Given the description of an element on the screen output the (x, y) to click on. 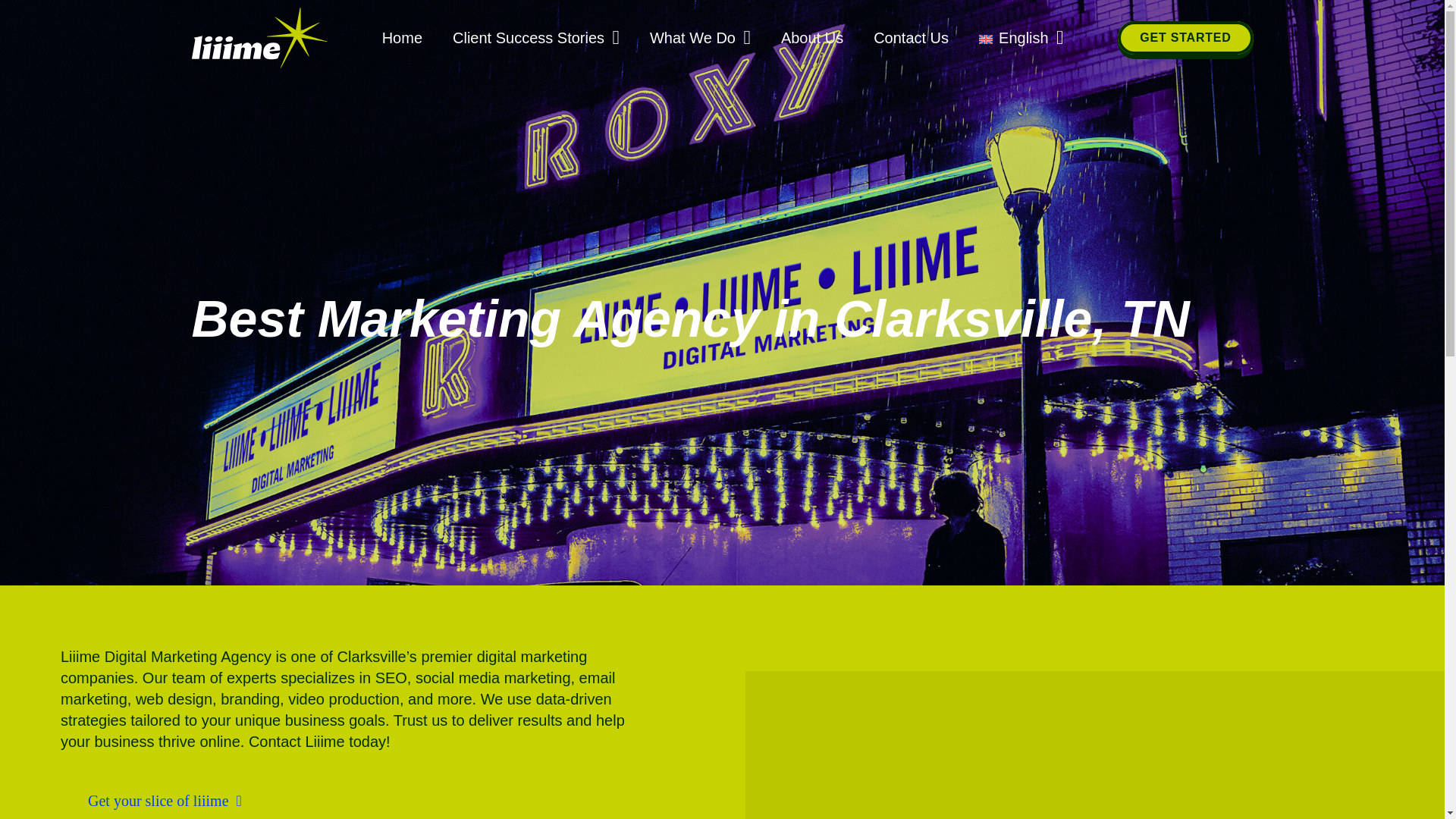
English (1020, 38)
Get your slice of liiime (165, 799)
Home (402, 38)
Contact Us (911, 38)
About Us (812, 38)
English (1020, 38)
GET STARTED (1185, 38)
What We Do (699, 38)
Client Success Stories (536, 38)
